Given the description of an element on the screen output the (x, y) to click on. 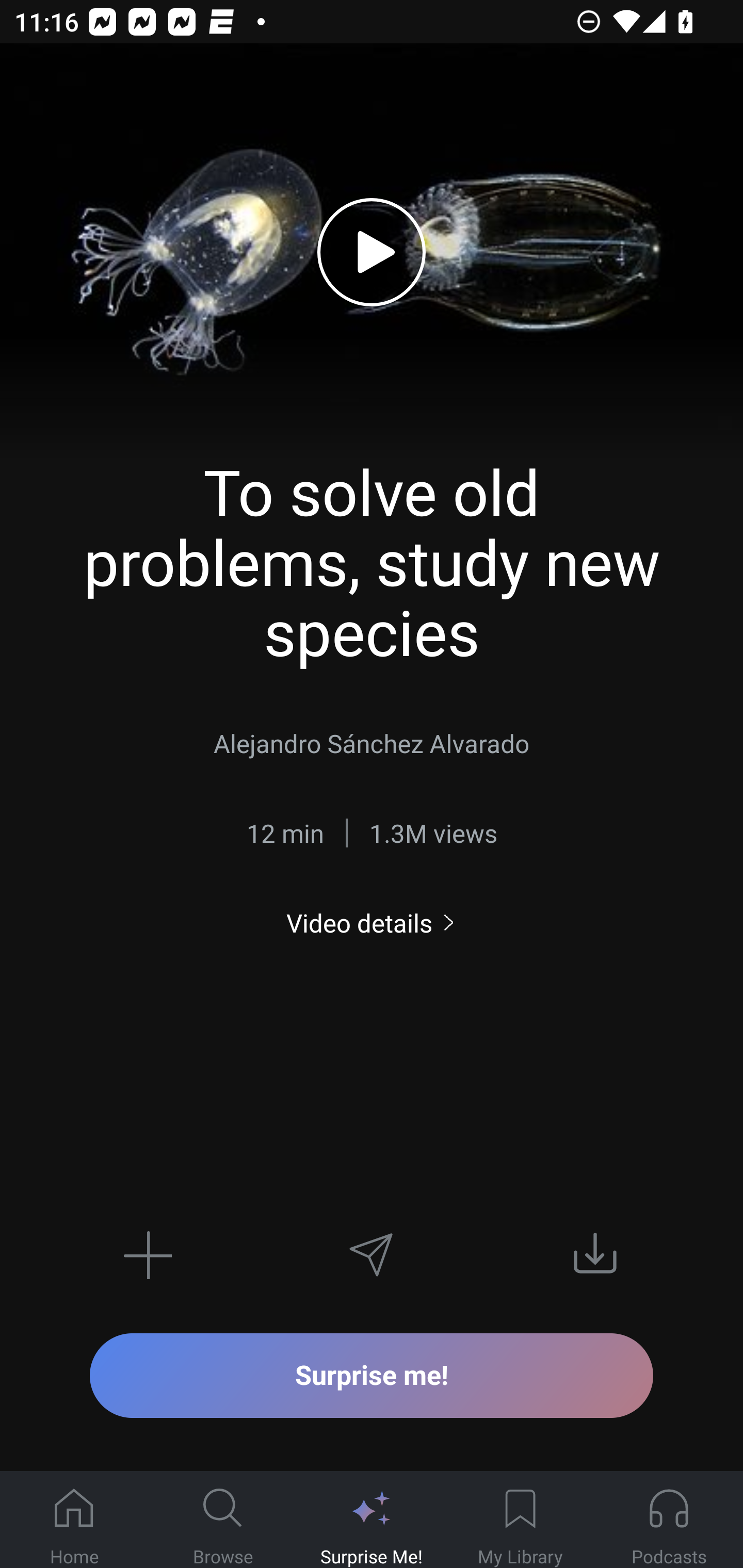
Video details (371, 922)
Surprise me! (371, 1374)
Home (74, 1520)
Browse (222, 1520)
Surprise Me! (371, 1520)
My Library (519, 1520)
Podcasts (668, 1520)
